Given the description of an element on the screen output the (x, y) to click on. 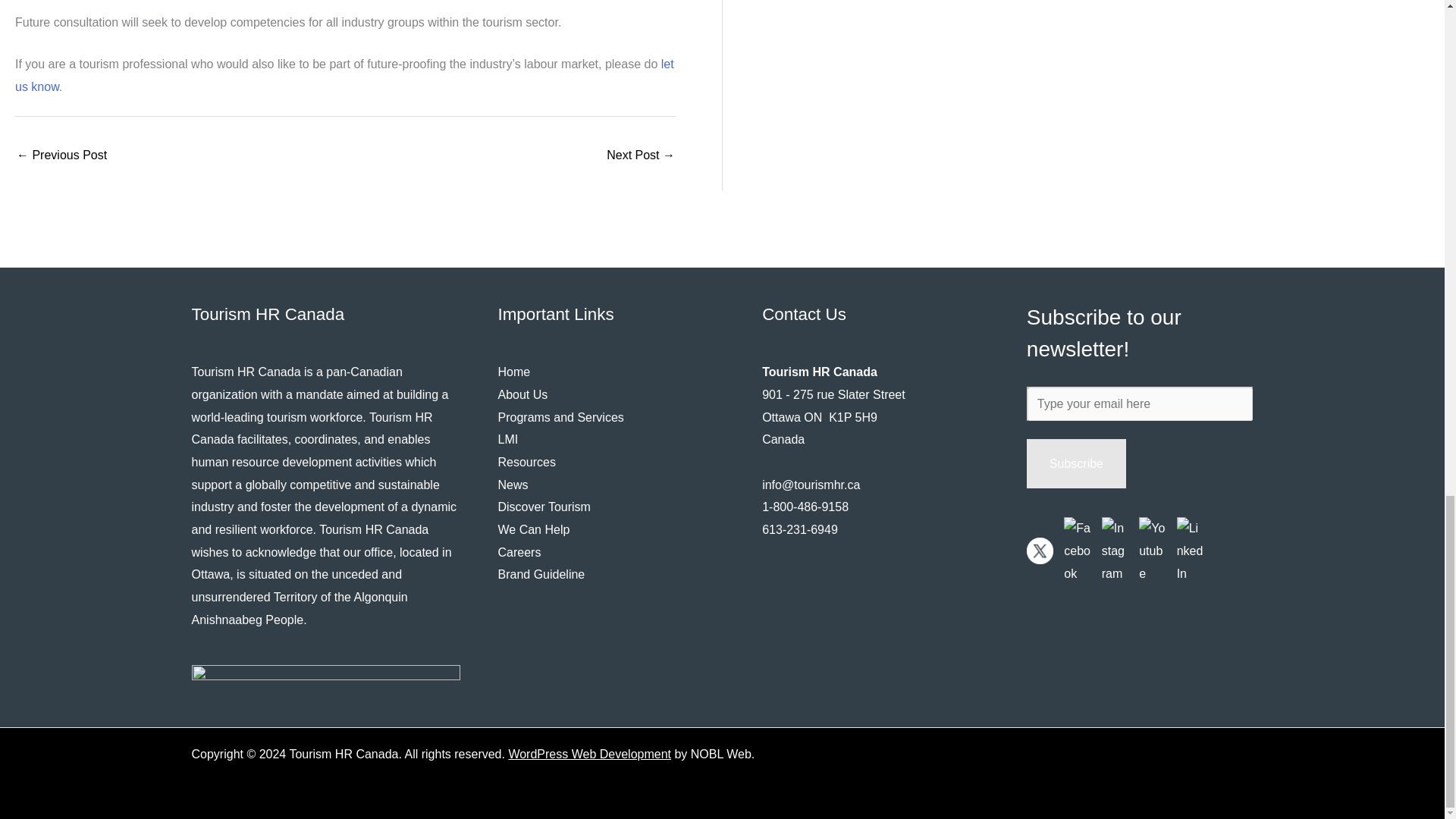
Skilling It: Exploring Education and Skill Levels in Tourism (641, 156)
Subscribe (1075, 463)
